Given the description of an element on the screen output the (x, y) to click on. 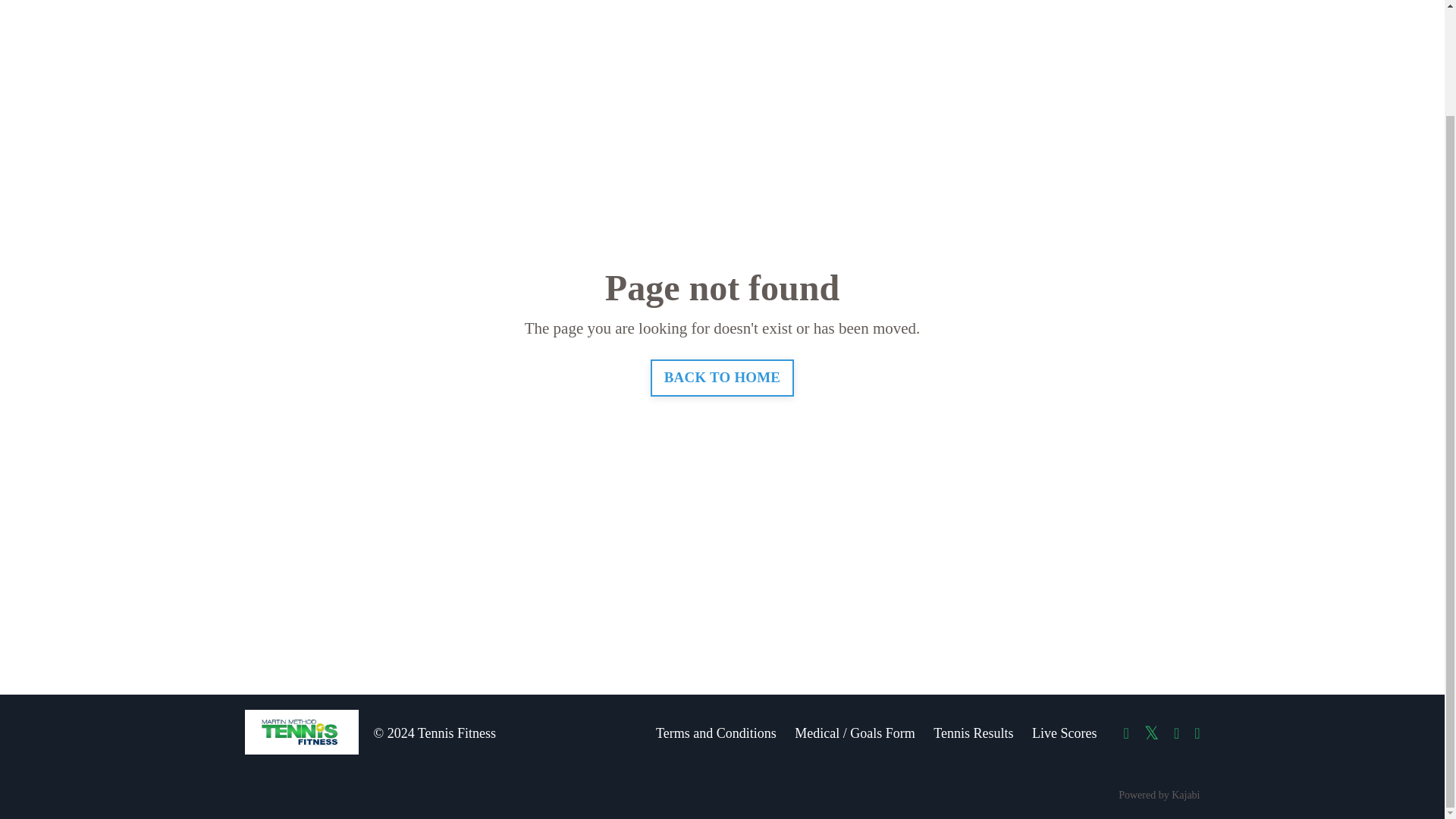
Live Scores (1064, 733)
Tennis Results (973, 733)
Terms and Conditions (716, 733)
Powered by Kajabi (1158, 794)
BACK TO HOME (721, 377)
